Given the description of an element on the screen output the (x, y) to click on. 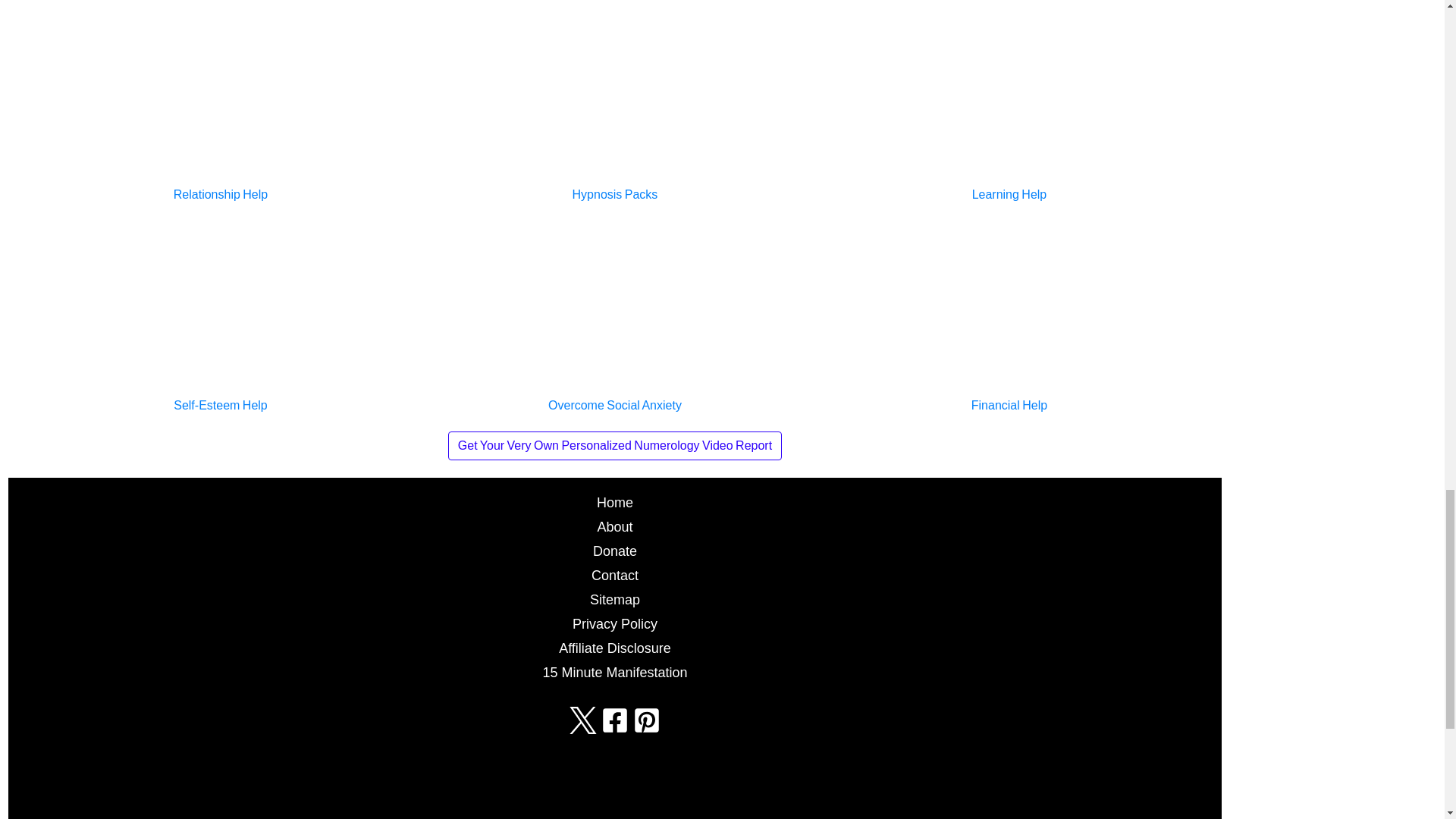
Overcome Social Anxiety (614, 313)
Hypnosis Downloads Relationship Help (220, 103)
Personal Finance Hypnosis Sessions (1008, 313)
Hypnosis Downloads Learning Help (1008, 103)
Improve Your Self-Esteem (220, 313)
Hypnosis Downloads Packs (614, 103)
